Given the description of an element on the screen output the (x, y) to click on. 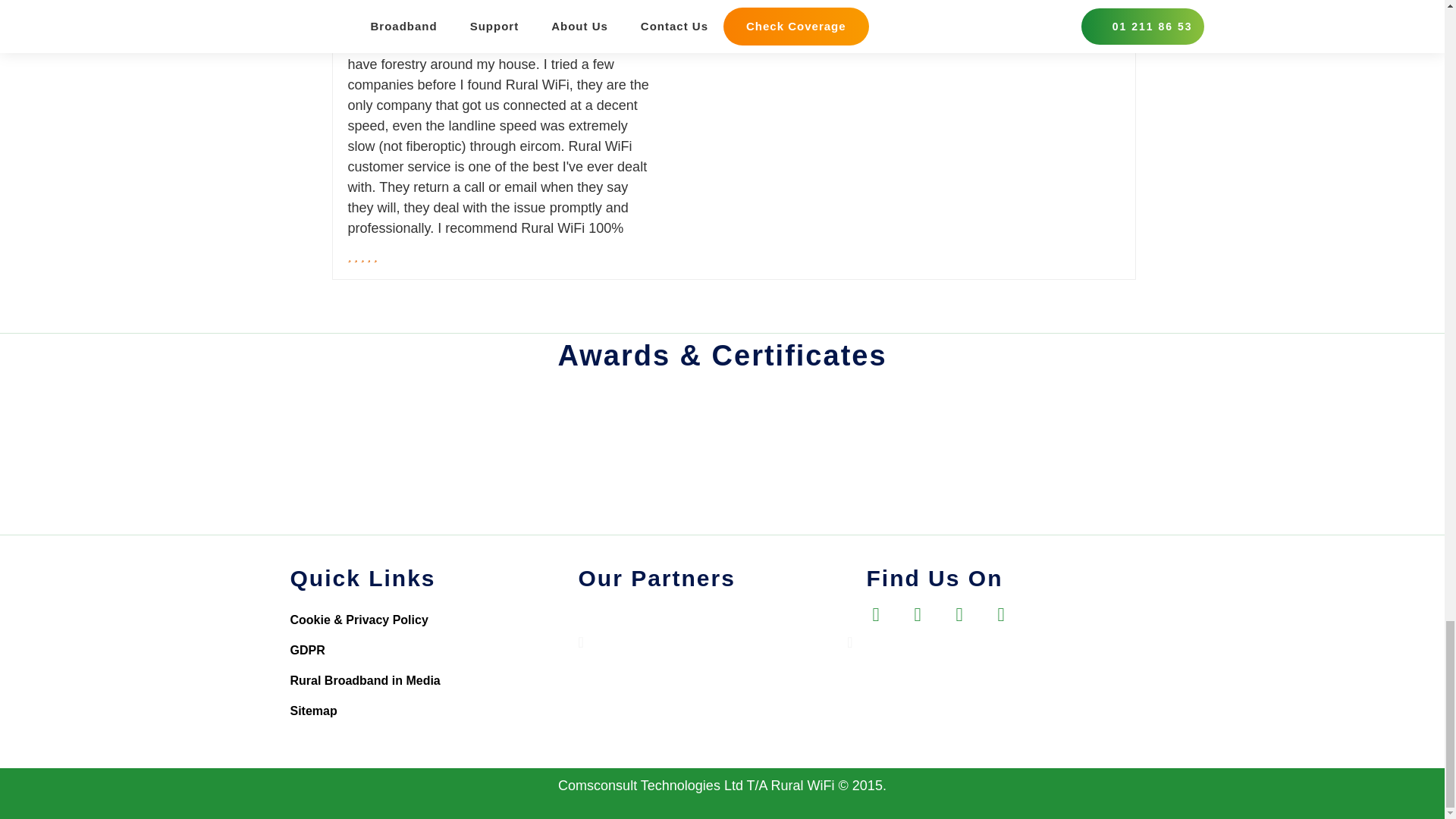
GDPR (433, 650)
Sitemap (433, 711)
Rural Broadband in Media (433, 680)
